Given the description of an element on the screen output the (x, y) to click on. 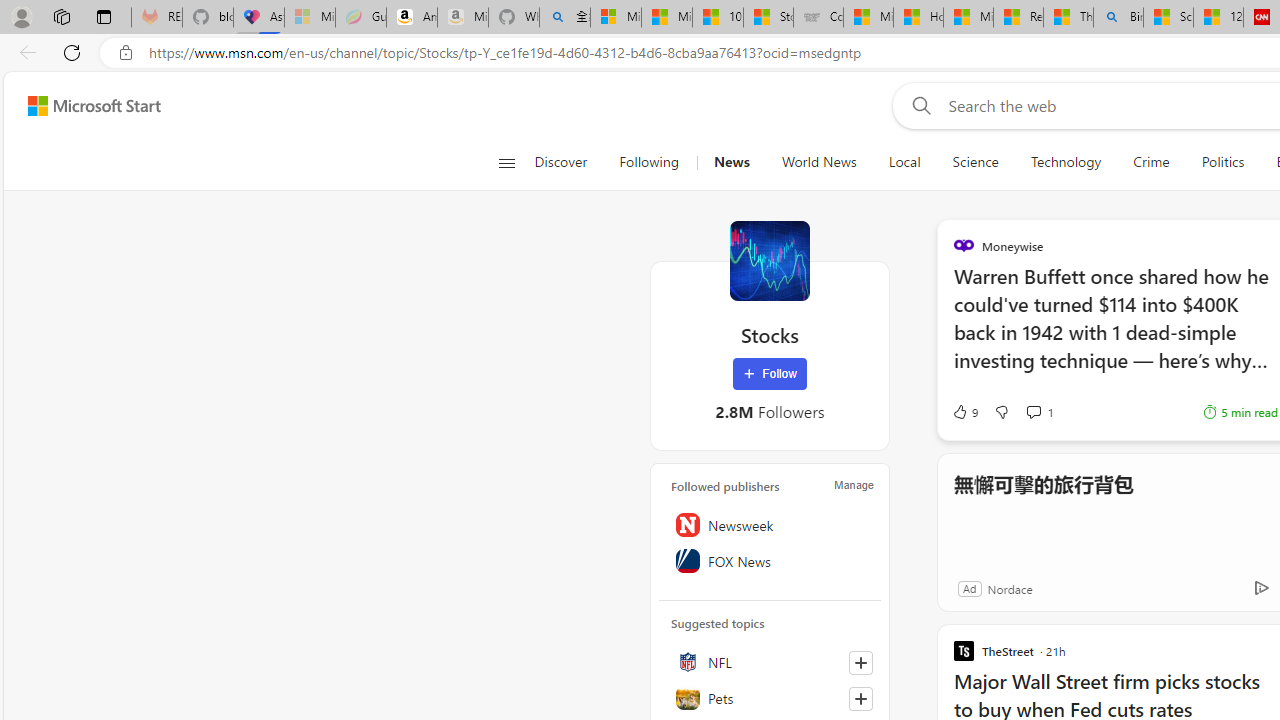
Open navigation menu (506, 162)
Following (648, 162)
Crime (1151, 162)
Microsoft account | Privacy (616, 17)
FOX News (770, 561)
Dislike (1001, 412)
Microsoft-Report a Concern to Bing - Sleeping (310, 17)
View comments 1 Comment (1039, 412)
Stocks (769, 260)
Crime (1150, 162)
Politics (1222, 162)
Science - MSN (1168, 17)
